Given the description of an element on the screen output the (x, y) to click on. 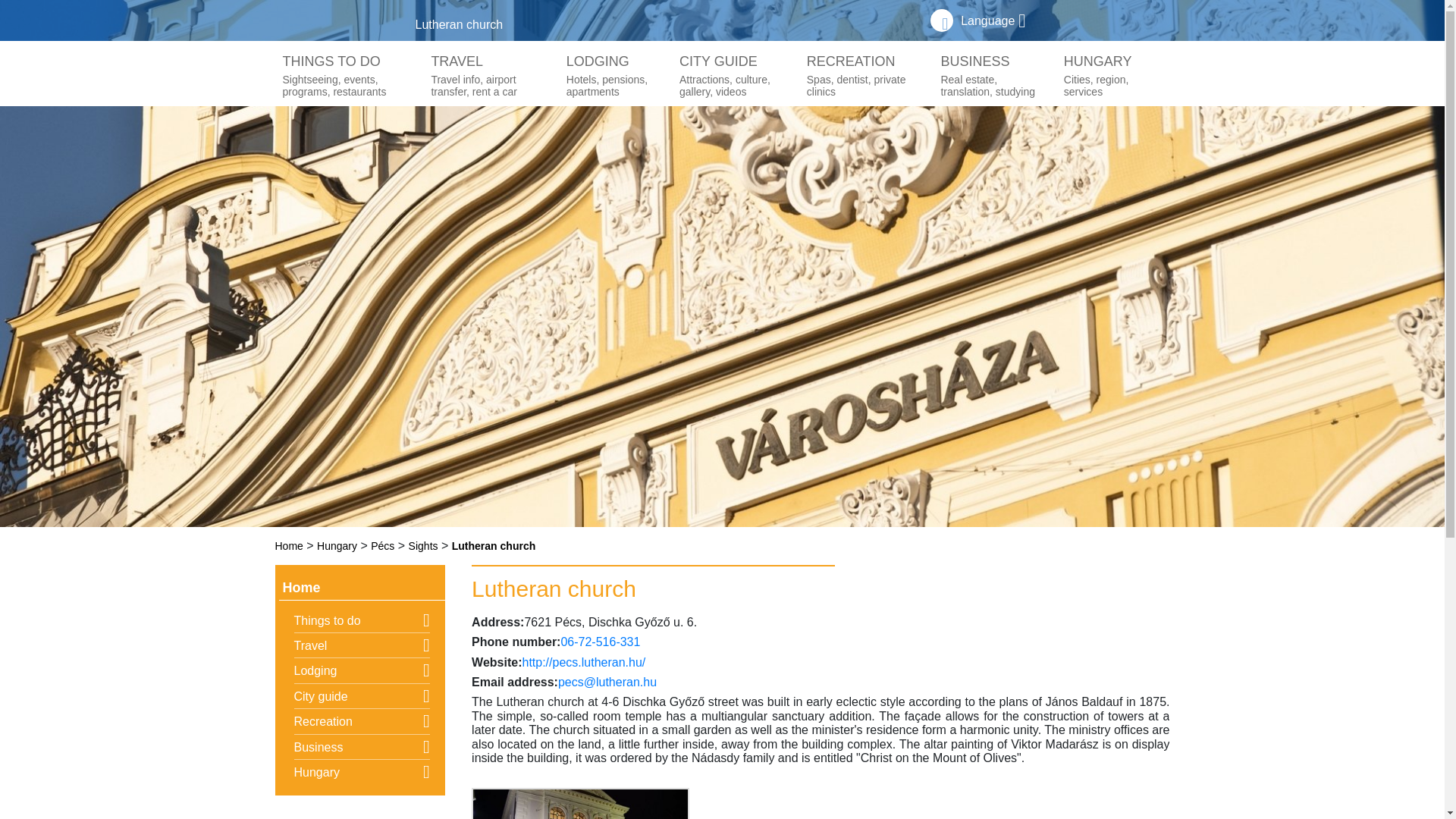
Home (615, 75)
Hungary (288, 545)
Language (1112, 75)
Hungary (992, 20)
Facebook (336, 545)
Recreation (941, 20)
budapest tourist info (734, 75)
Lodging (866, 75)
